Given the description of an element on the screen output the (x, y) to click on. 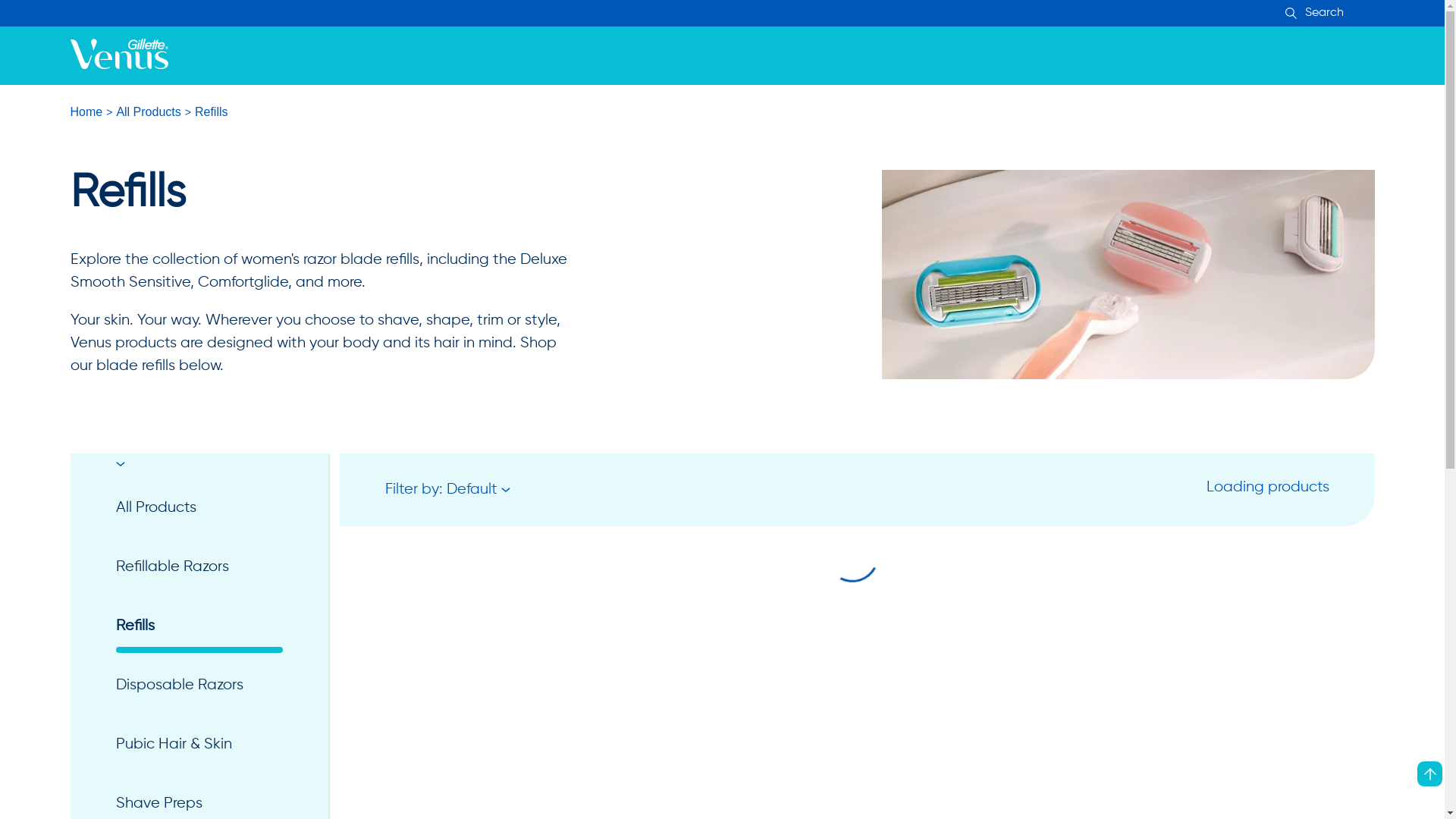
Refills Element type: text (198, 626)
Return to Top Element type: hover (1429, 773)
Pubic Hair & Skin Element type: text (198, 744)
All Products Element type: text (148, 111)
Gillette Venus Logo Element type: hover (118, 54)
Disposable Razors Element type: text (198, 685)
Refillable Razors Element type: text (198, 566)
All Products Element type: text (198, 507)
Home Element type: text (85, 111)
